Given the description of an element on the screen output the (x, y) to click on. 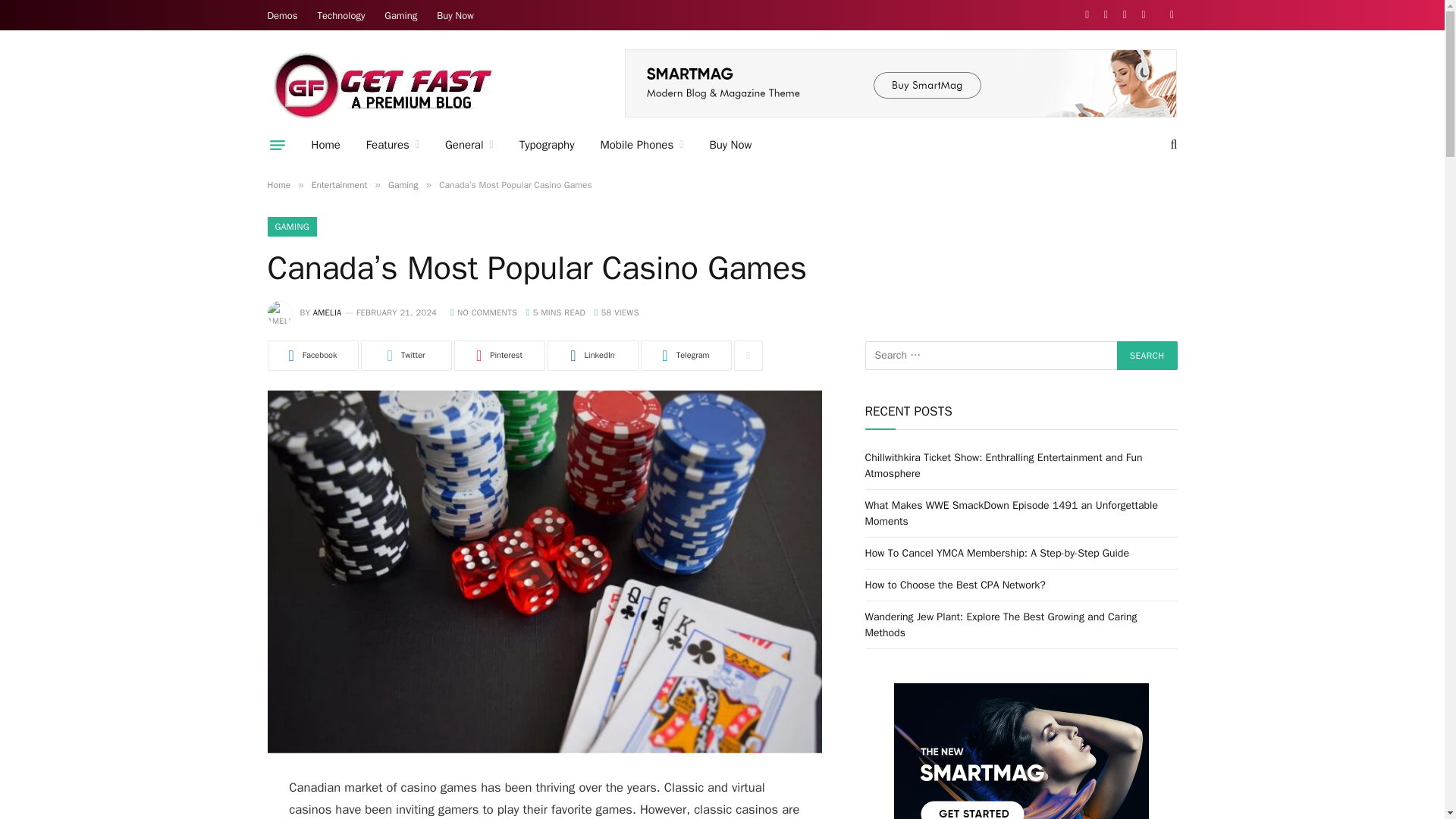
Technology (341, 15)
Get Fast (380, 84)
Search (1146, 355)
Gaming (400, 15)
Buy Now (454, 15)
Switch to Dark Design - easier on eyes. (1169, 14)
Search (1146, 355)
Demos (282, 15)
Home (325, 144)
Features (392, 144)
